Given the description of an element on the screen output the (x, y) to click on. 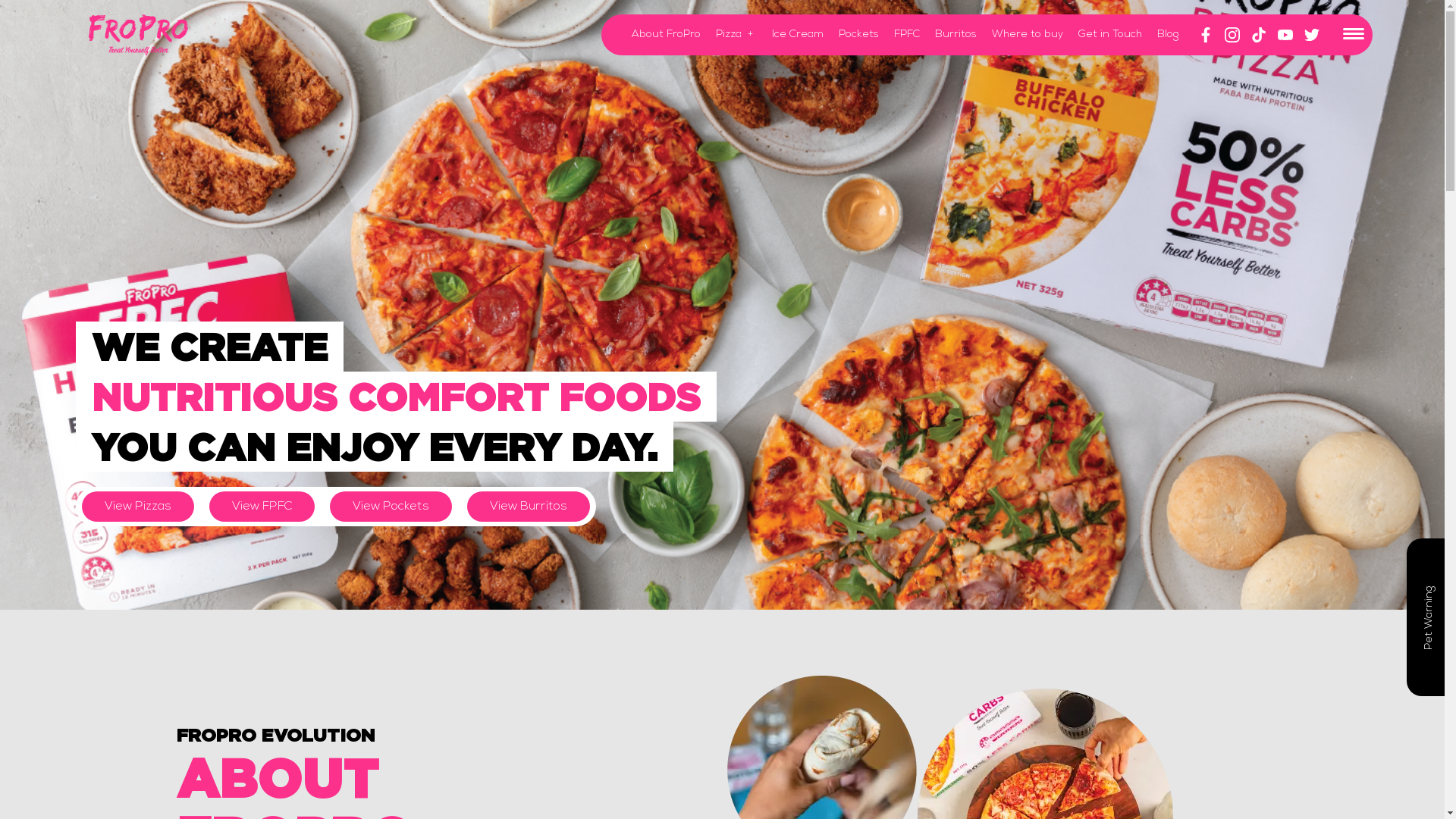
FPFC Element type: text (906, 34)
Pockets Element type: text (858, 34)
Follow FroPro on Instagram Element type: hover (1237, 34)
View Pockets Element type: text (390, 506)
About FroPro Element type: text (665, 34)
Get in Touch Element type: text (1110, 34)
FroPro | Treat Yourself Better Element type: hover (138, 34)
Follow FroPro on TikTok Element type: hover (1264, 34)
Follow FroPro on Twitter Element type: hover (1317, 34)
Blog Element type: text (1168, 34)
View Burritos Element type: text (528, 506)
Follow FroPro on Youtube Element type: hover (1290, 34)
Burritos Element type: text (955, 34)
Where to buy Element type: text (1027, 34)
Follow FroPro on Facebook Element type: hover (1211, 34)
Pizza Element type: text (728, 34)
Ice Cream Element type: text (797, 34)
FroPro - Treat yourself better. Element type: hover (722, 304)
View FPFC Element type: text (261, 506)
View Pizzas Element type: text (137, 506)
